Given the description of an element on the screen output the (x, y) to click on. 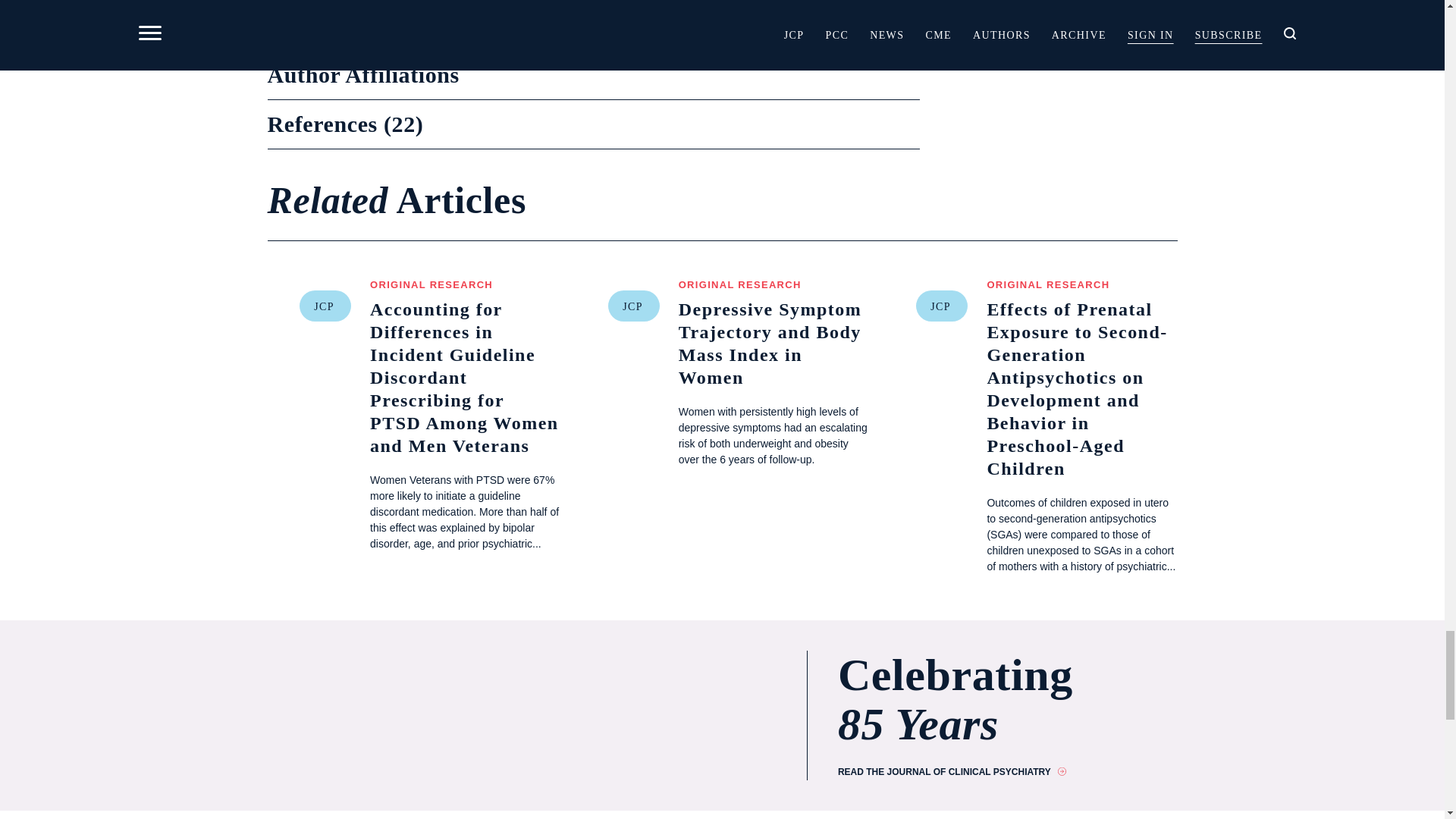
JCP (633, 305)
JCP (941, 305)
JCP (324, 305)
